Given the description of an element on the screen output the (x, y) to click on. 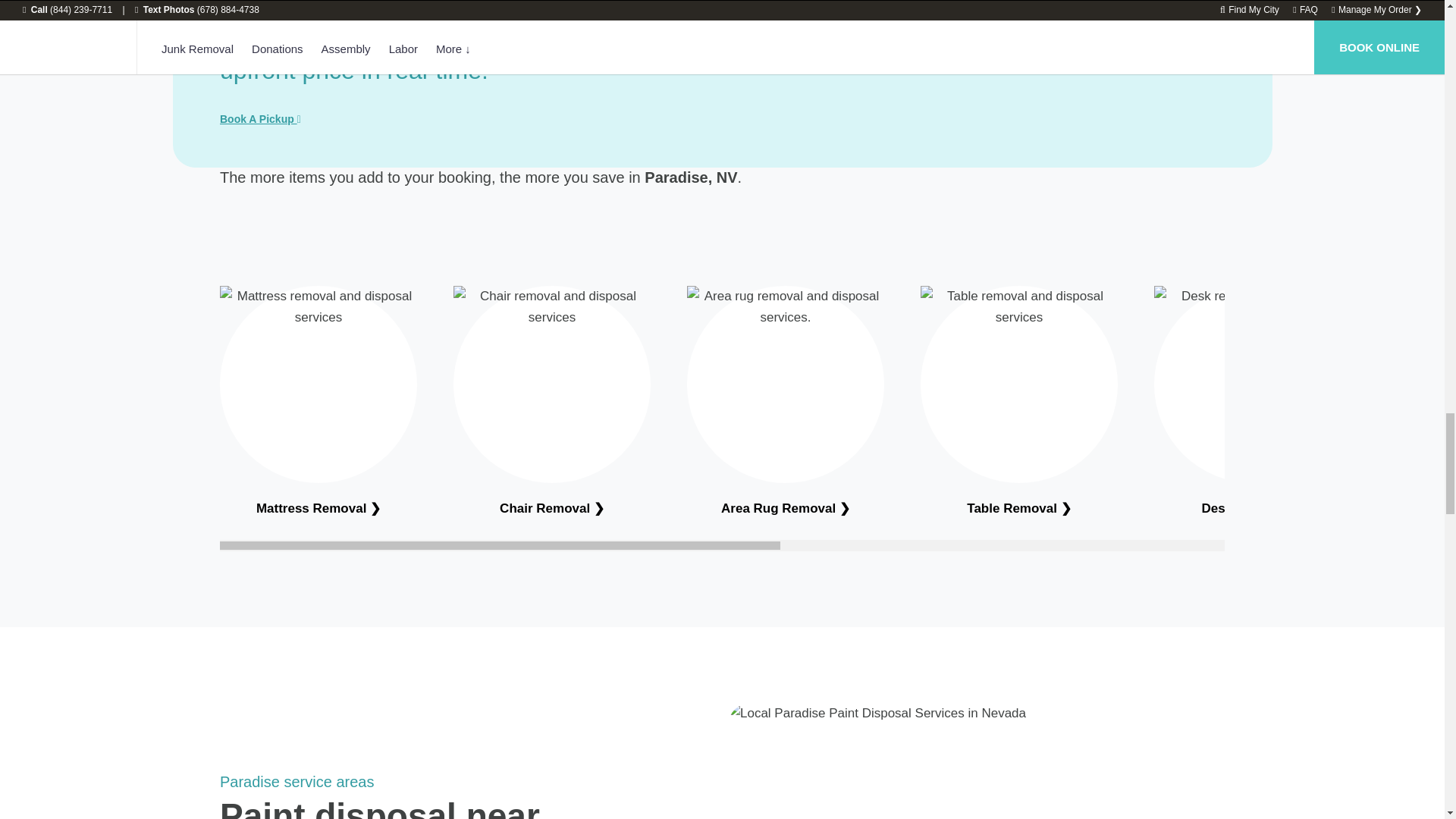
Area rug removal services (785, 508)
Paradise mattress removal services (318, 508)
Chair removal services (551, 508)
Schedule paint disposal in Paradise online (260, 119)
